Given the description of an element on the screen output the (x, y) to click on. 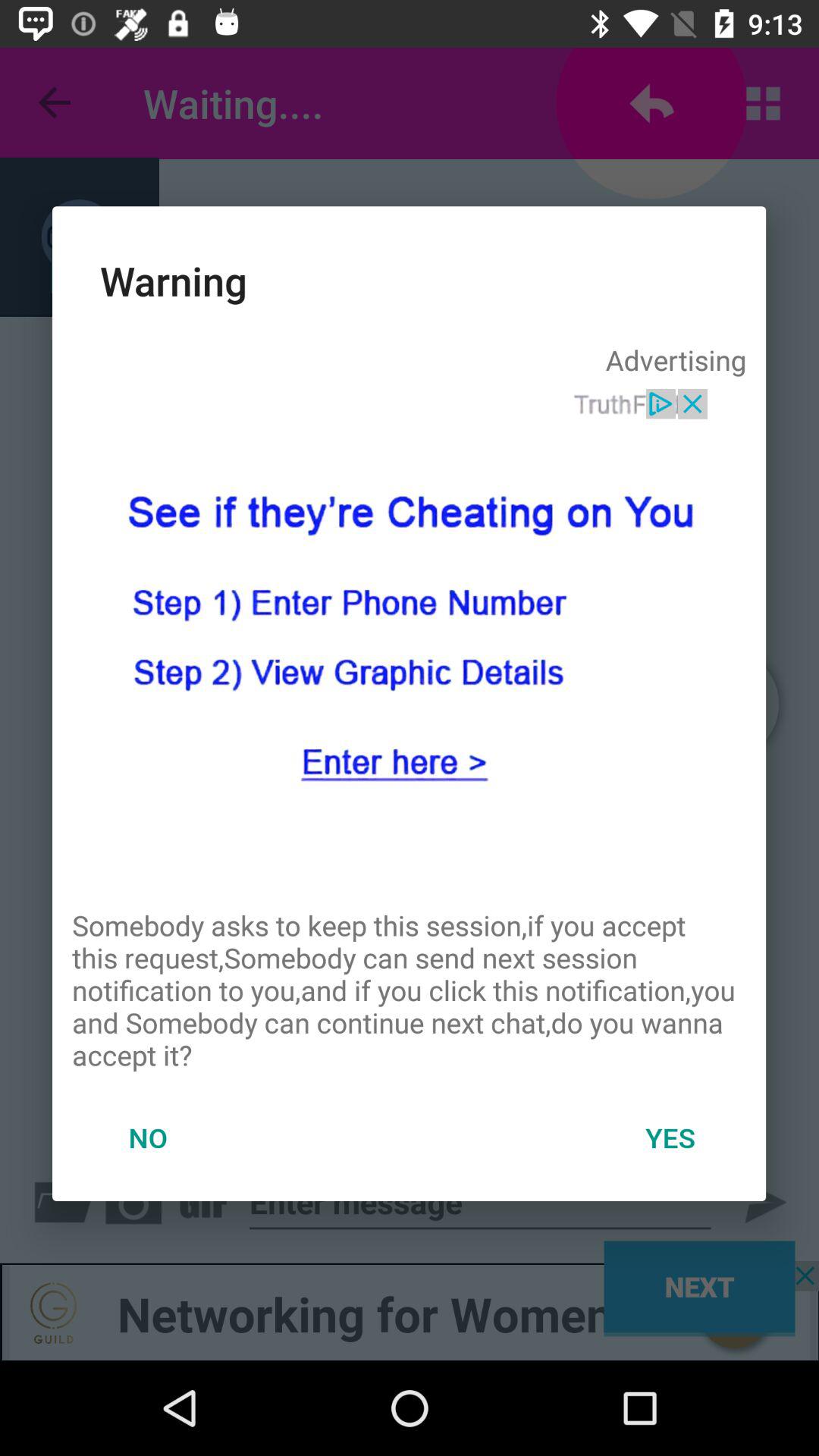
get information about the person (408, 637)
